Given the description of an element on the screen output the (x, y) to click on. 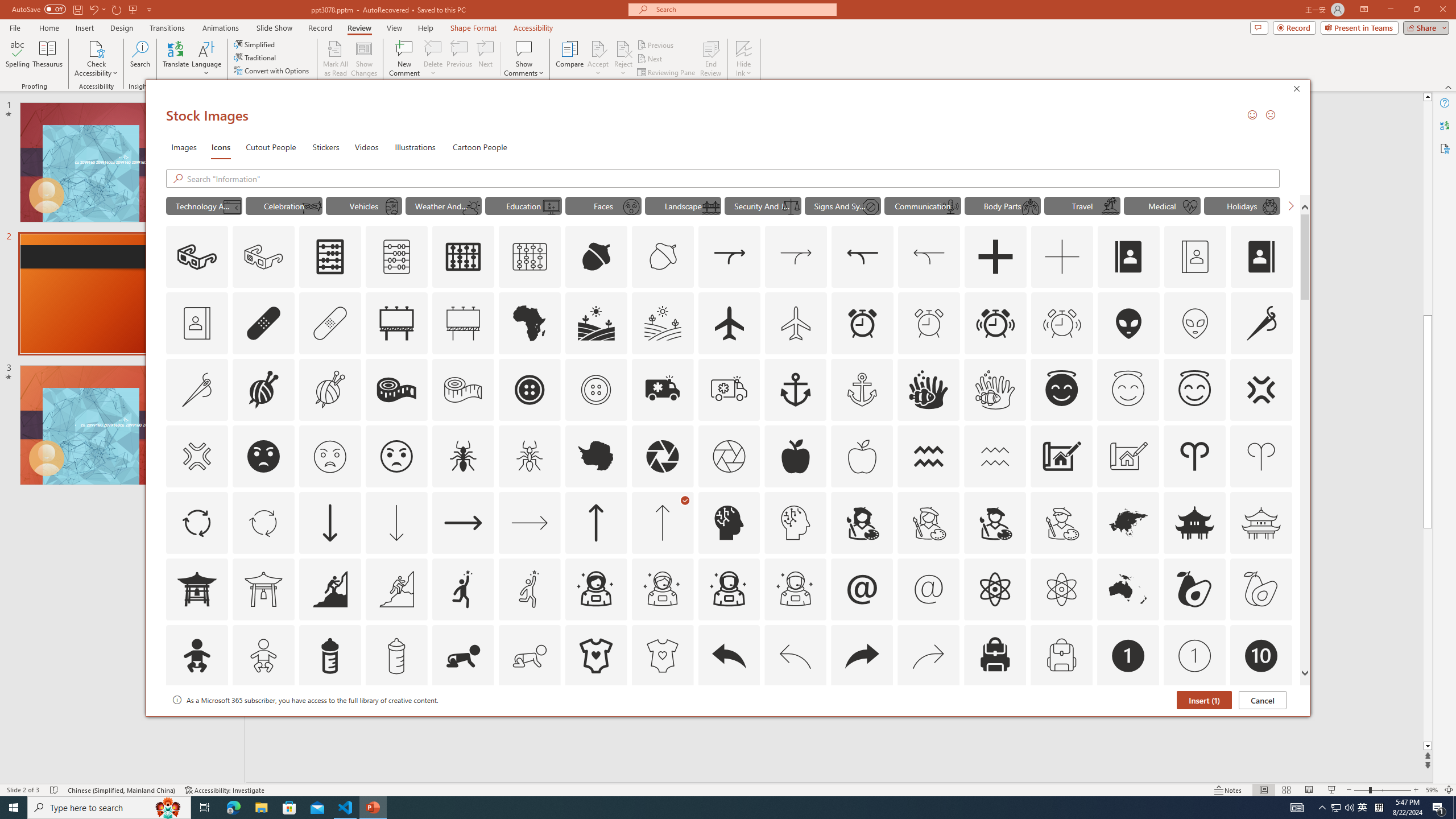
"Body Parts" Icons. (1002, 205)
AutomationID: Icons_ArtistMale (995, 522)
AutomationID: Icons_ArtistFemale_M (928, 522)
AutomationID: Icons_Avocado (1194, 588)
AutomationID: Icons_ArrowUp_M (662, 522)
AutomationID: Icons_AlterationsTailoring_M (196, 389)
"Medical" Icons. (1162, 205)
